Given the description of an element on the screen output the (x, y) to click on. 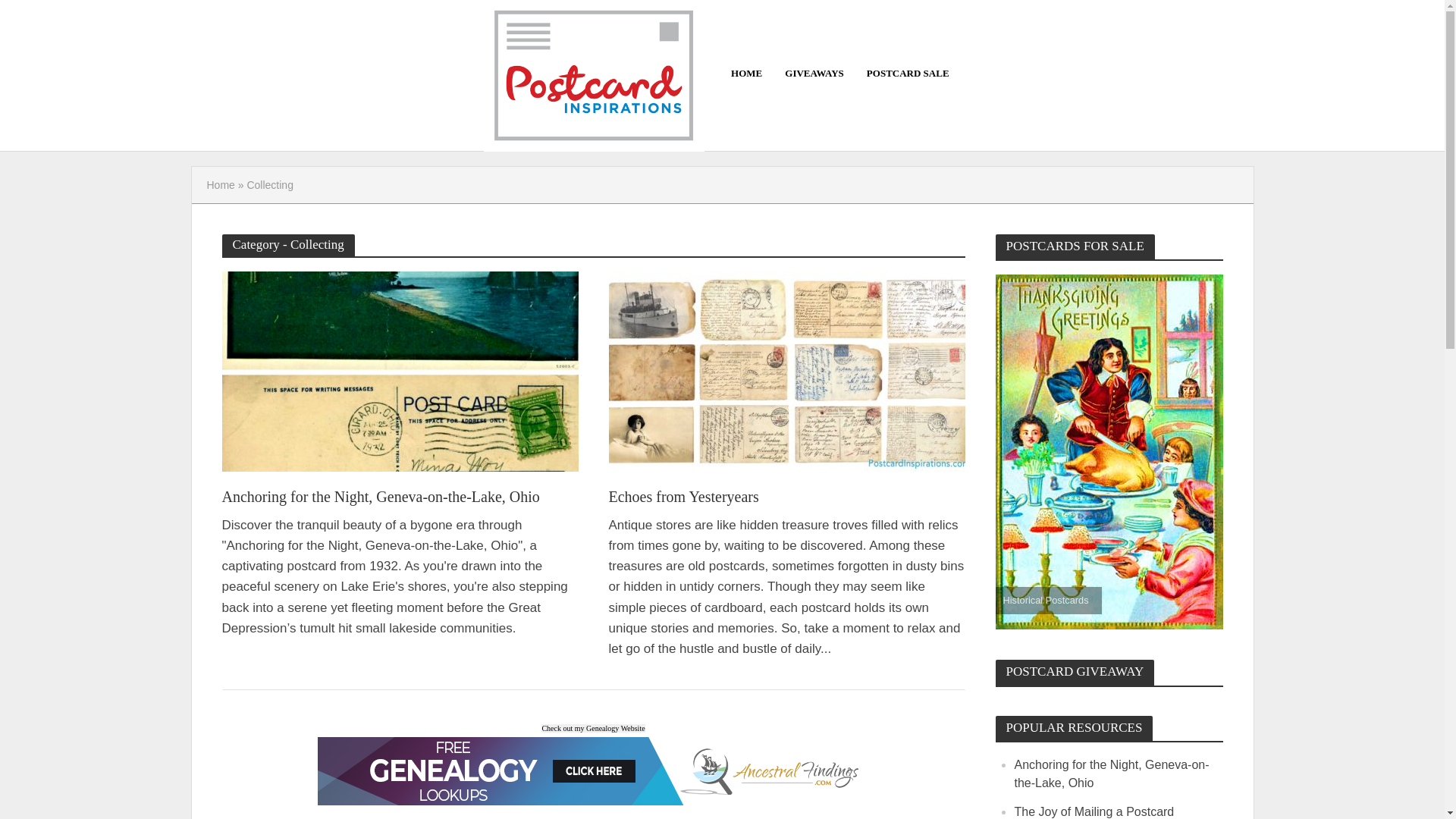
HOME (746, 73)
GIVEAWAYS (814, 73)
Home (220, 184)
Check out my Genealogy Website (593, 726)
Anchoring for the Night, Geneva-on-the-Lake, Ohio (1111, 773)
The Joy of Mailing a Postcard (1094, 811)
POSTCARD SALE (908, 73)
Anchoring for the Night, Geneva-on-the-Lake, Ohio (399, 496)
Echoes from Yesteryears (785, 496)
Anchoring for the Night, Geneva-on-the-Lake, Ohio (399, 370)
